Given the description of an element on the screen output the (x, y) to click on. 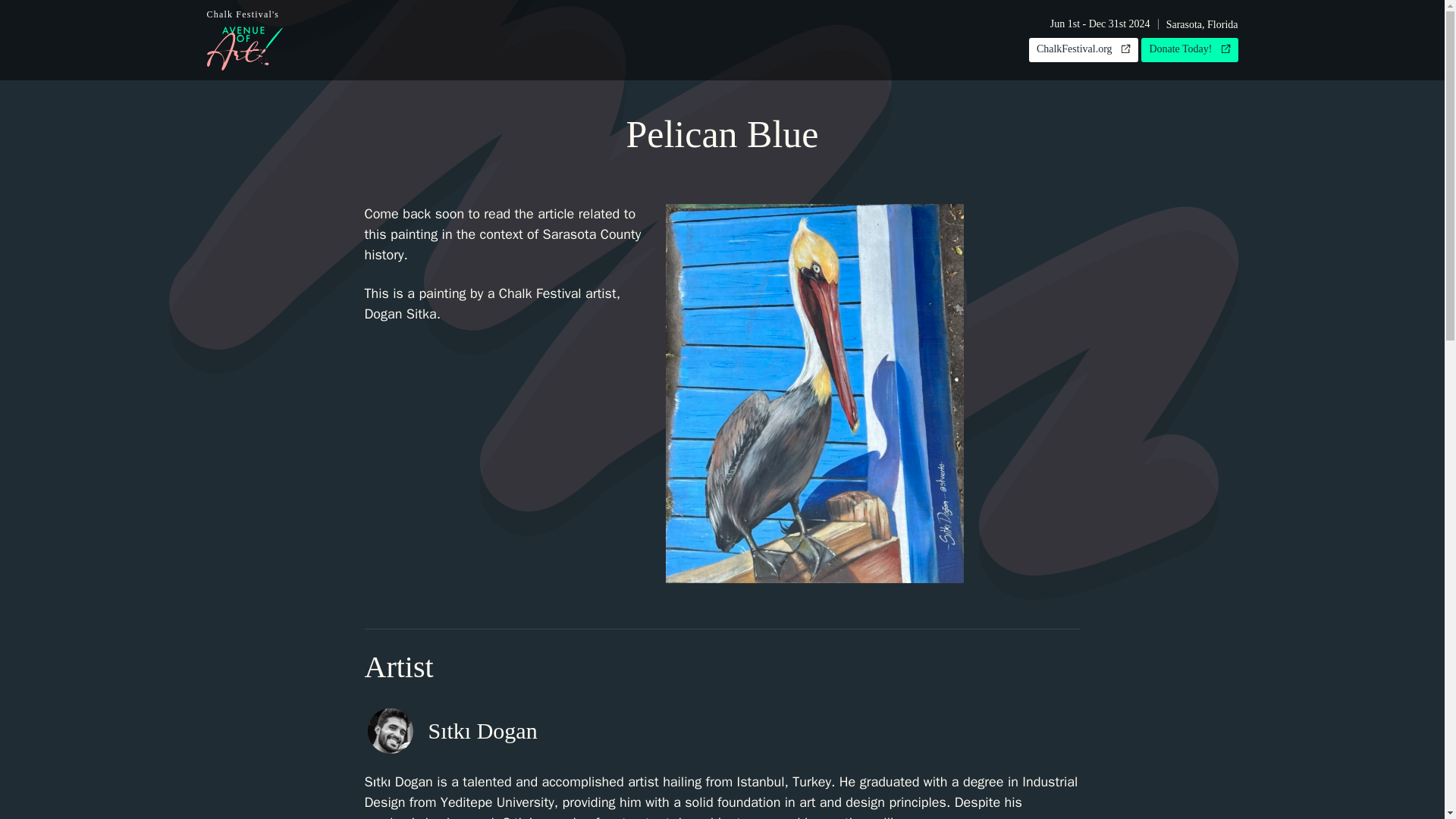
ChalkFestival.org (244, 39)
Donate Today! (1083, 49)
